Given the description of an element on the screen output the (x, y) to click on. 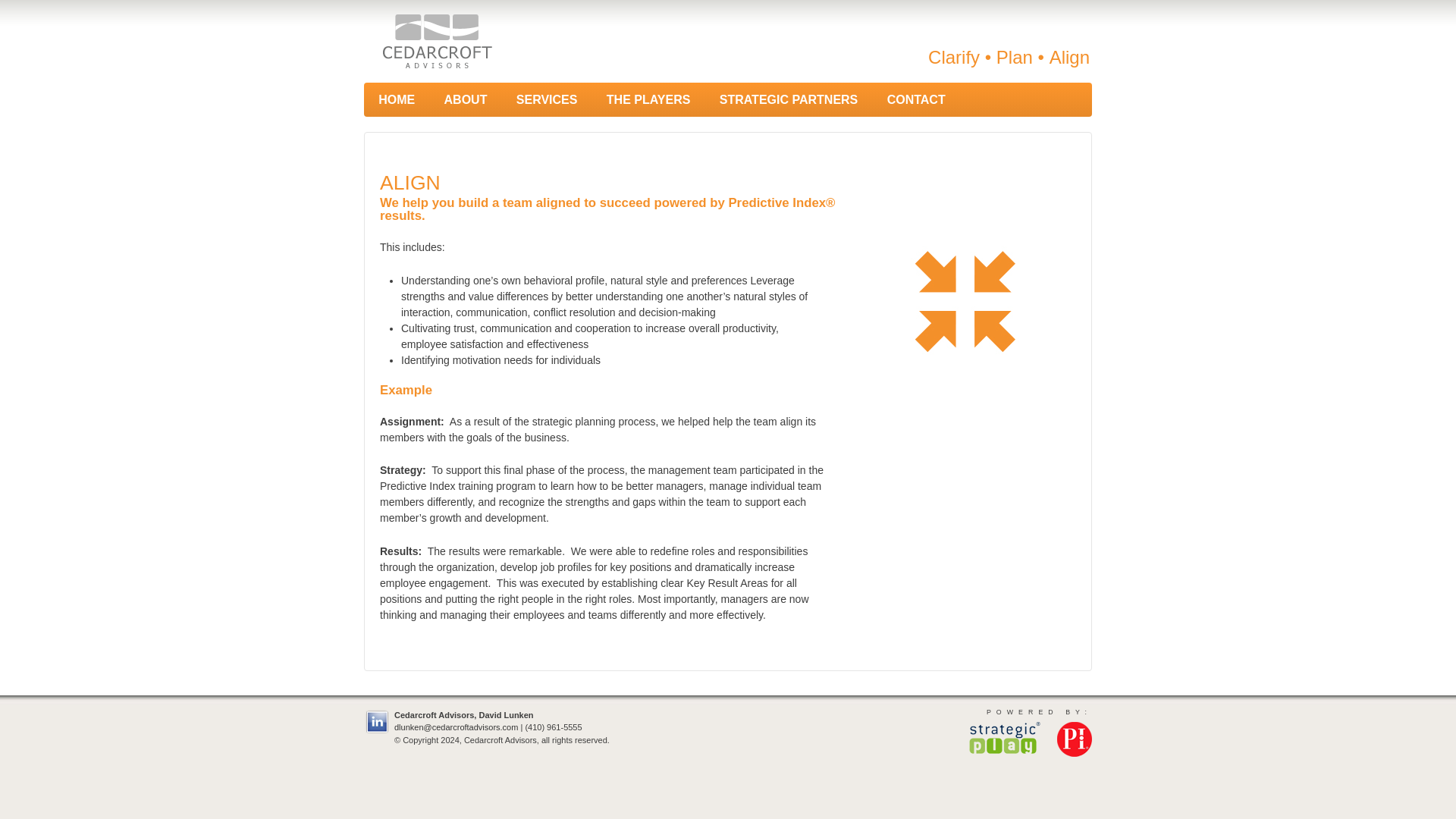
STRATEGIC PARTNERS (788, 99)
SERVICES (547, 99)
THE PLAYERS (648, 99)
ABOUT (464, 99)
Align (1069, 56)
Clarify (953, 56)
CONTACT (915, 99)
Plan (1013, 56)
HOME (396, 99)
